Given the description of an element on the screen output the (x, y) to click on. 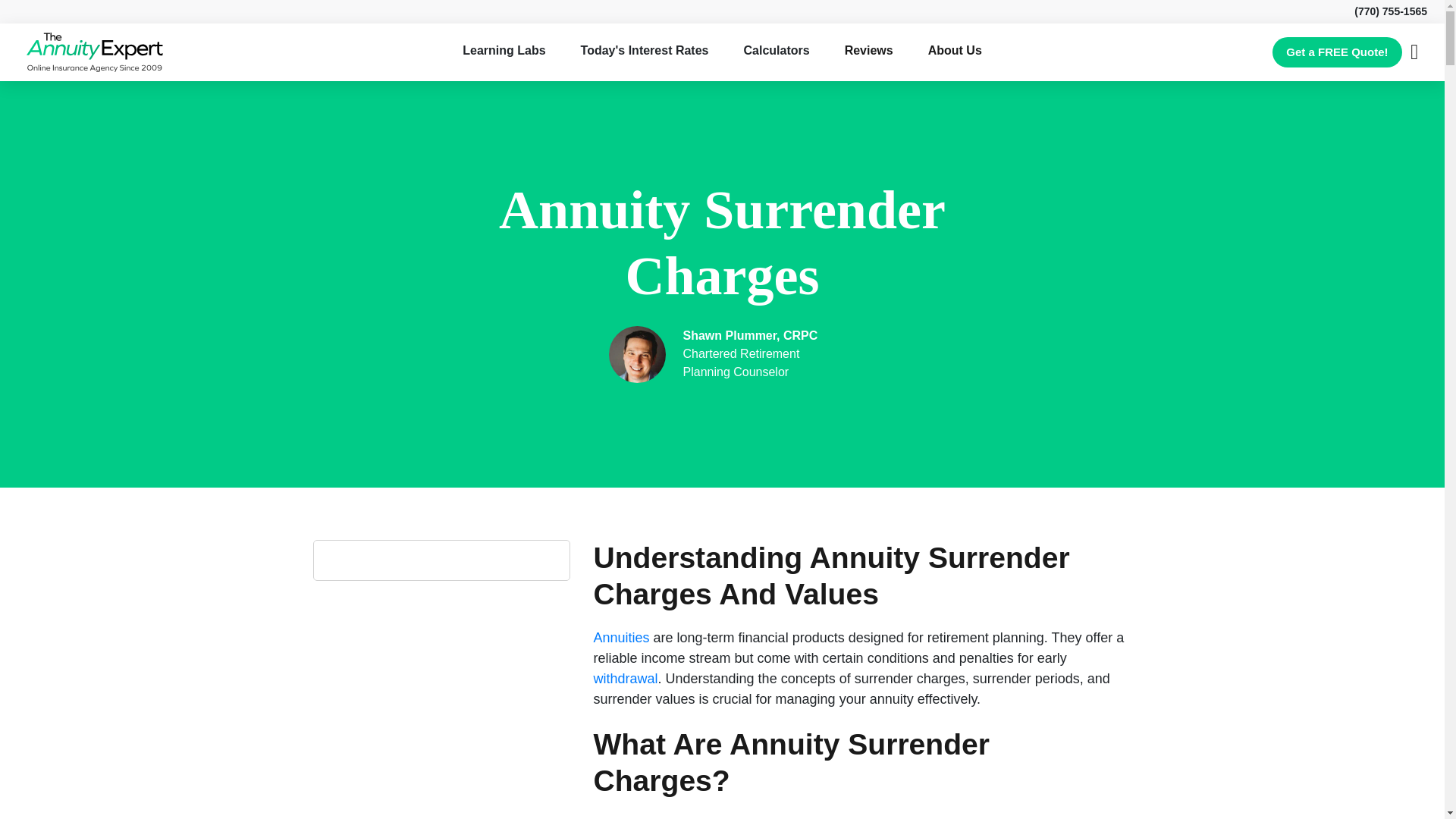
Reviews (868, 50)
About Us (954, 50)
Get a FREE Quote! (1337, 51)
